Given the description of an element on the screen output the (x, y) to click on. 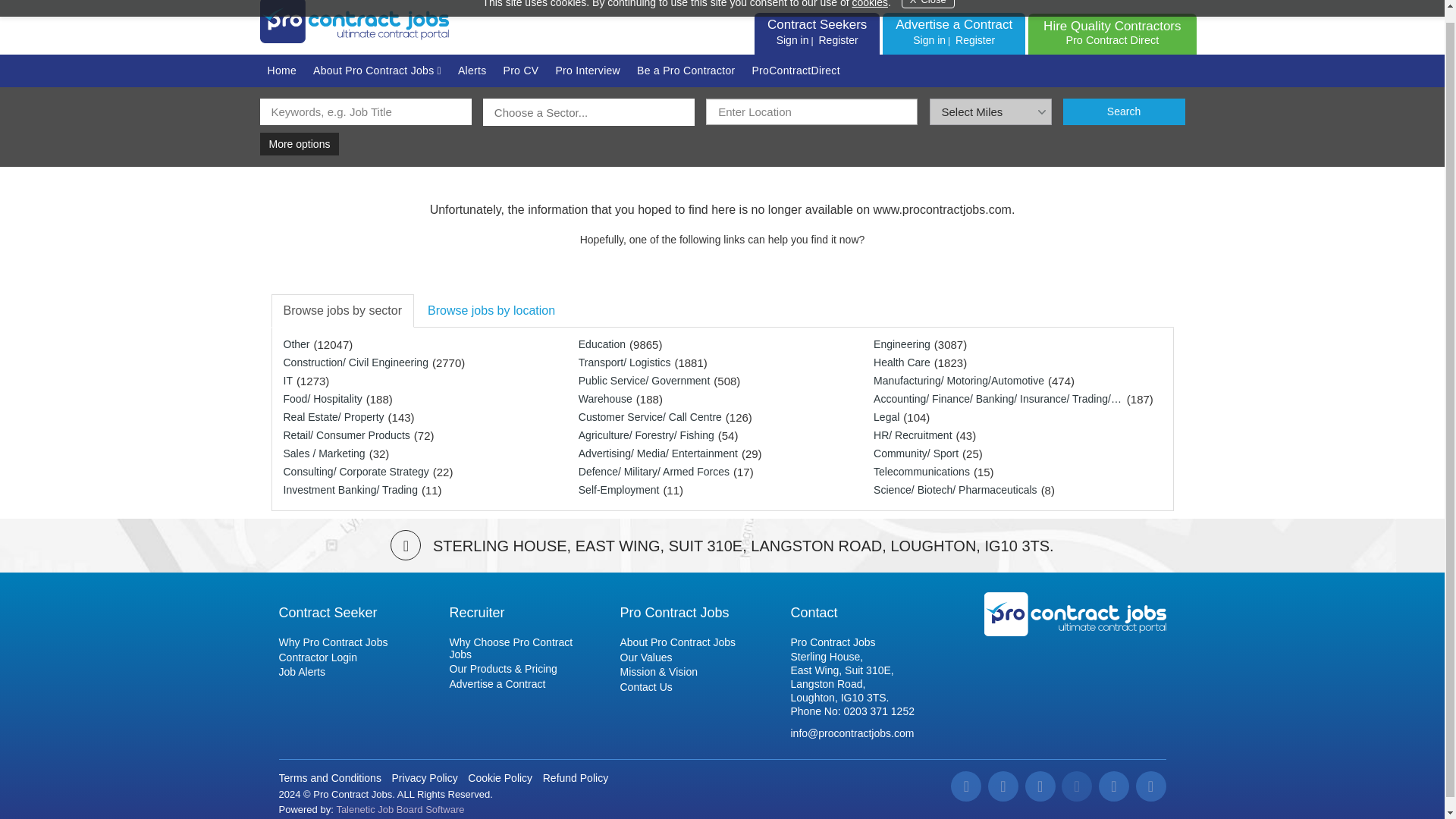
ProContractDirect (795, 70)
Home (281, 70)
Search (1123, 111)
Register (975, 39)
Pro Contract Jobs (1075, 614)
About Pro Contract Jobs (376, 70)
Sign in (929, 39)
Register (837, 39)
Be a Pro Contractor (685, 70)
cookies (868, 4)
Advertise a Contract (953, 24)
Search (1111, 32)
Talenetic (1123, 111)
Contract Seekers (400, 808)
